Given the description of an element on the screen output the (x, y) to click on. 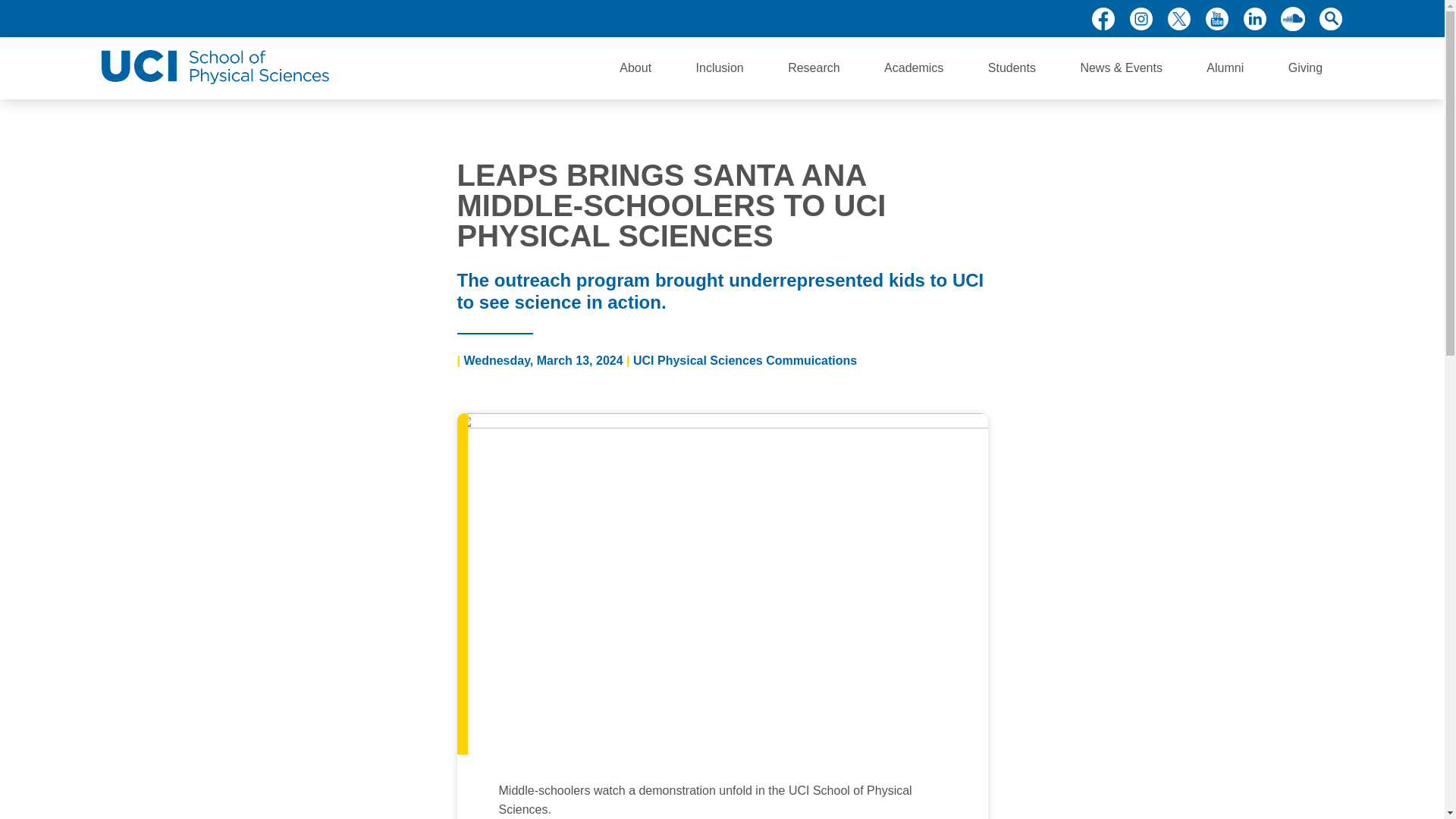
About (634, 67)
soundcloud (1292, 18)
Academics (913, 67)
youtube (1216, 18)
facebook (1102, 18)
search (1330, 18)
linkedin (1254, 18)
Research (813, 67)
instagram (1141, 18)
Inclusion (719, 67)
